Given the description of an element on the screen output the (x, y) to click on. 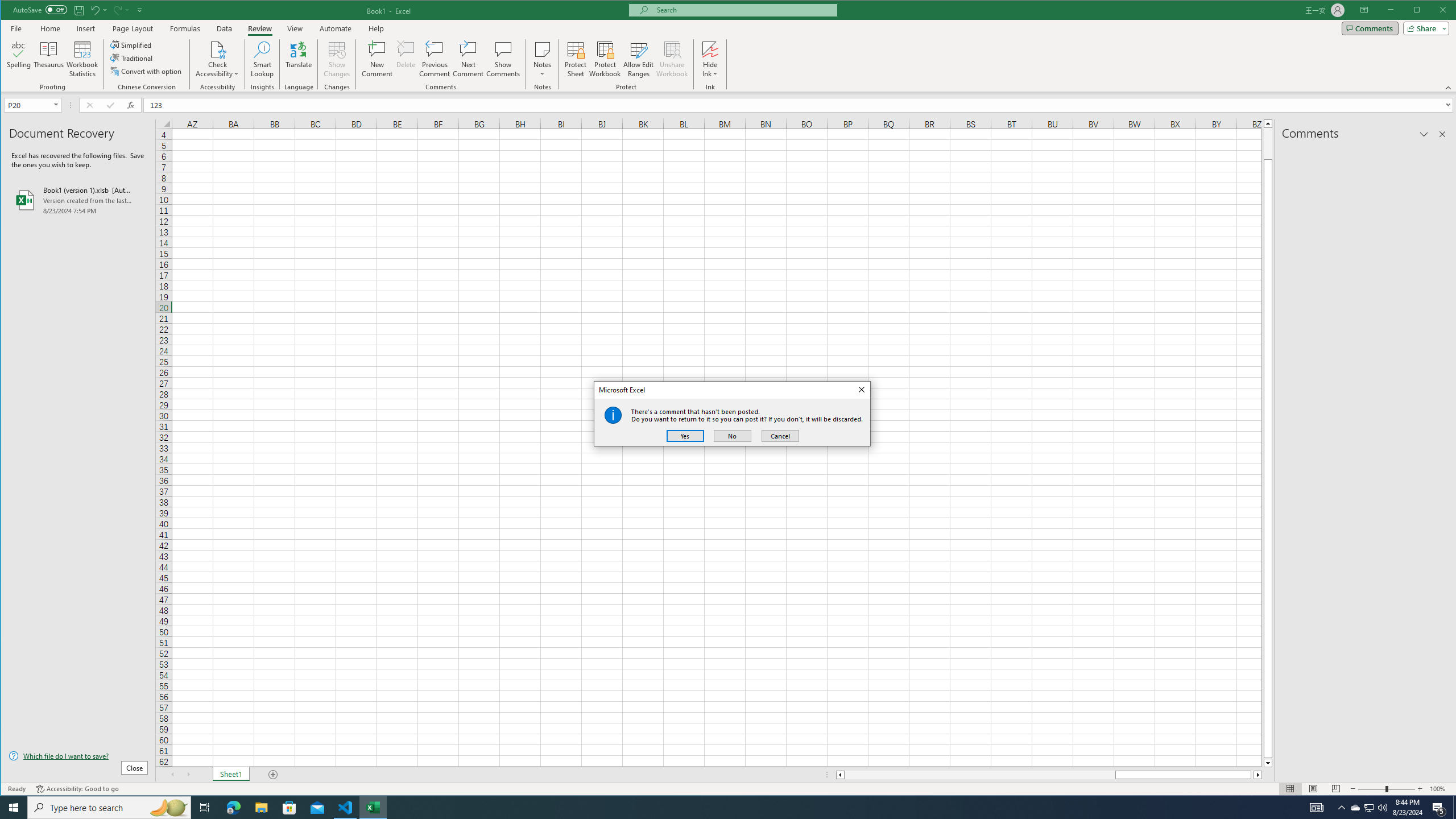
Search highlights icon opens search home window (167, 807)
AutomationID: 4105 (1316, 807)
Check Accessibility (217, 59)
Show Comments (502, 59)
Check Accessibility (217, 48)
Protect Sheet... (575, 59)
Thesaurus... (48, 59)
Excel - 1 running window (373, 807)
